Given the description of an element on the screen output the (x, y) to click on. 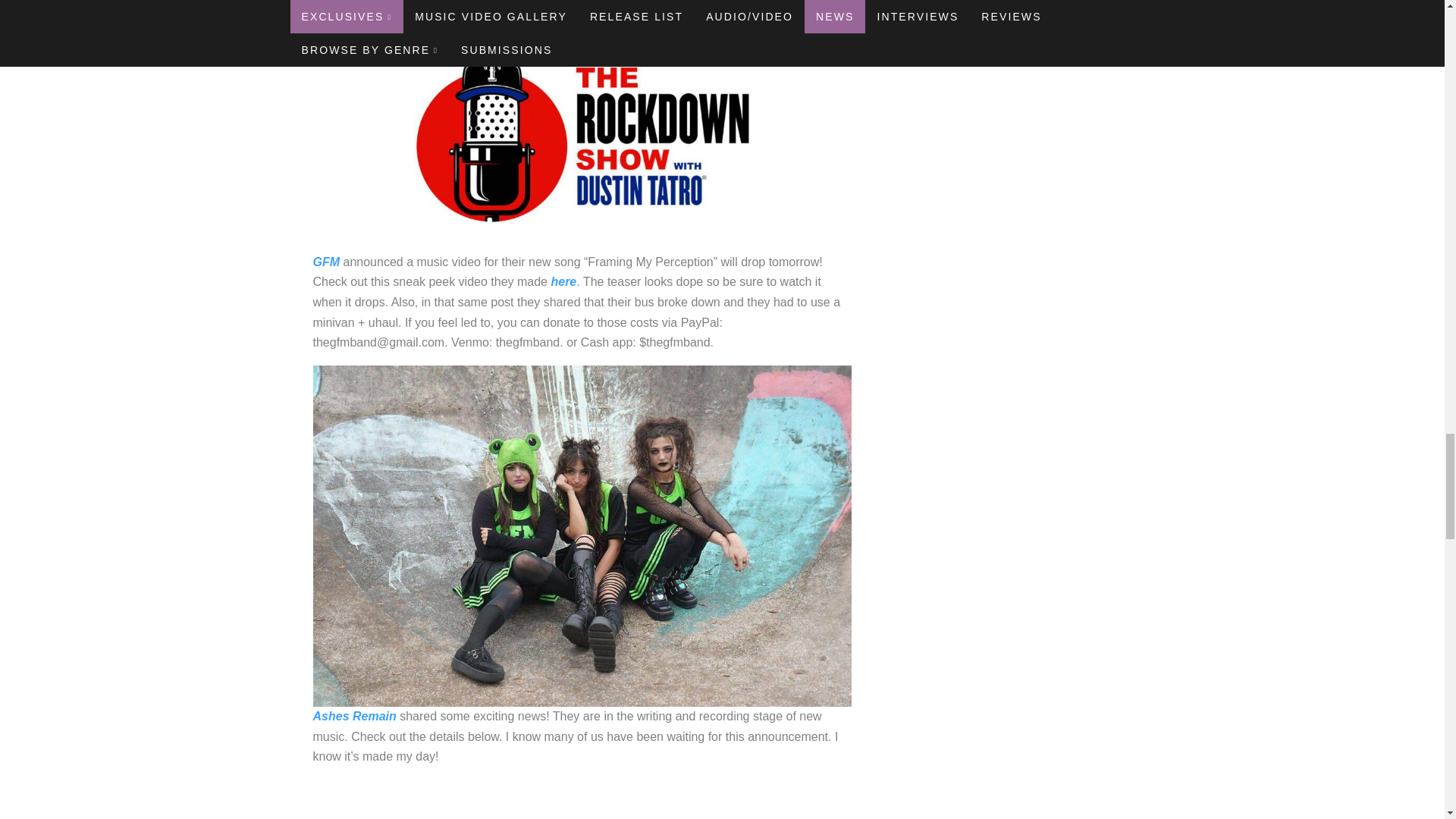
A little update (581, 799)
